Given the description of an element on the screen output the (x, y) to click on. 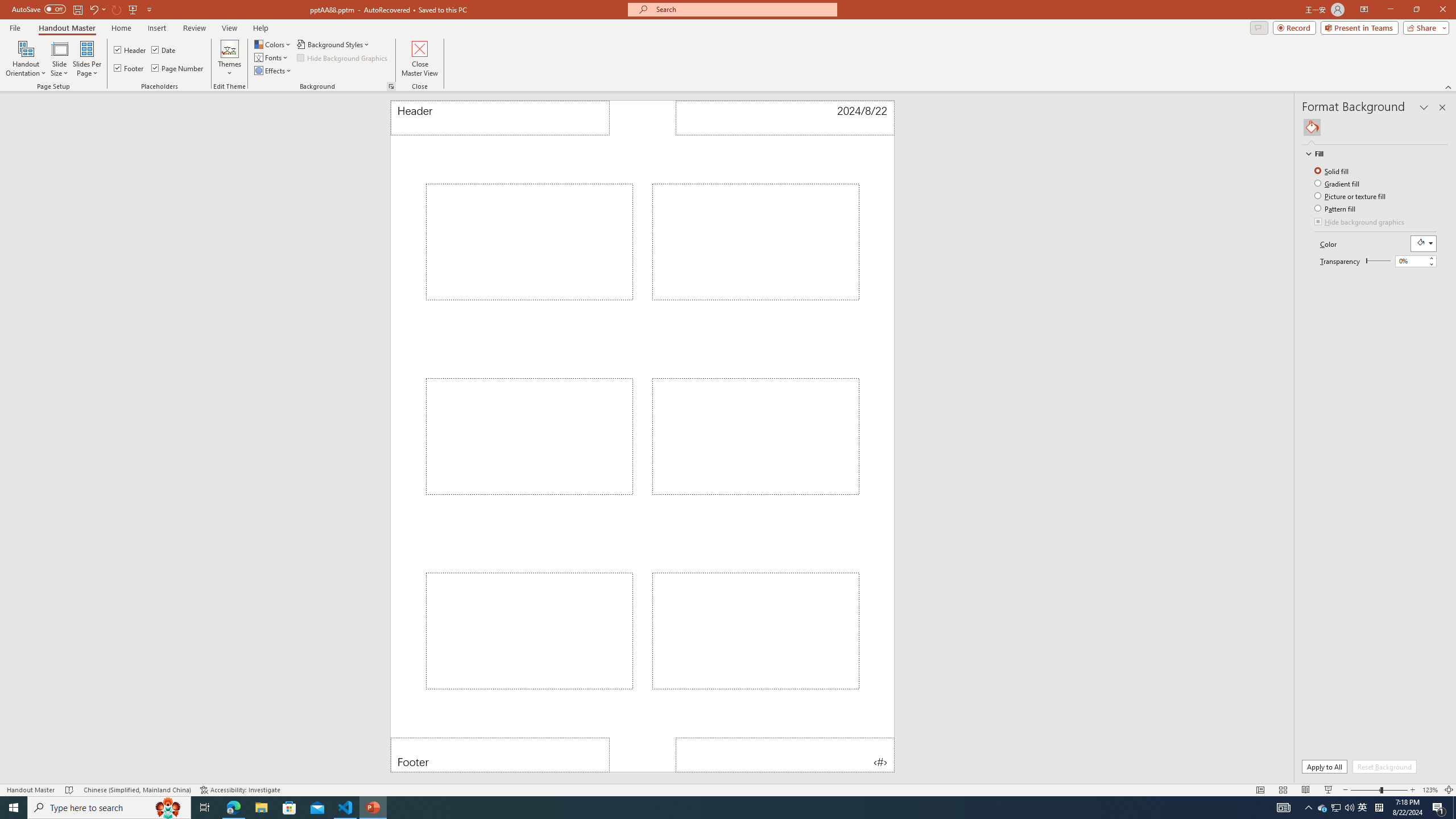
More (1430, 258)
Date (784, 117)
Transparency (1411, 260)
Hide Background Graphics (343, 56)
Format Background... (391, 85)
Page Number (784, 754)
Background Styles (333, 44)
Microsoft search (742, 9)
Page right (1379, 260)
Picture or texture fill (1350, 195)
Handout Master (66, 28)
Class: NetUIGalleryContainer (1375, 126)
